Given the description of an element on the screen output the (x, y) to click on. 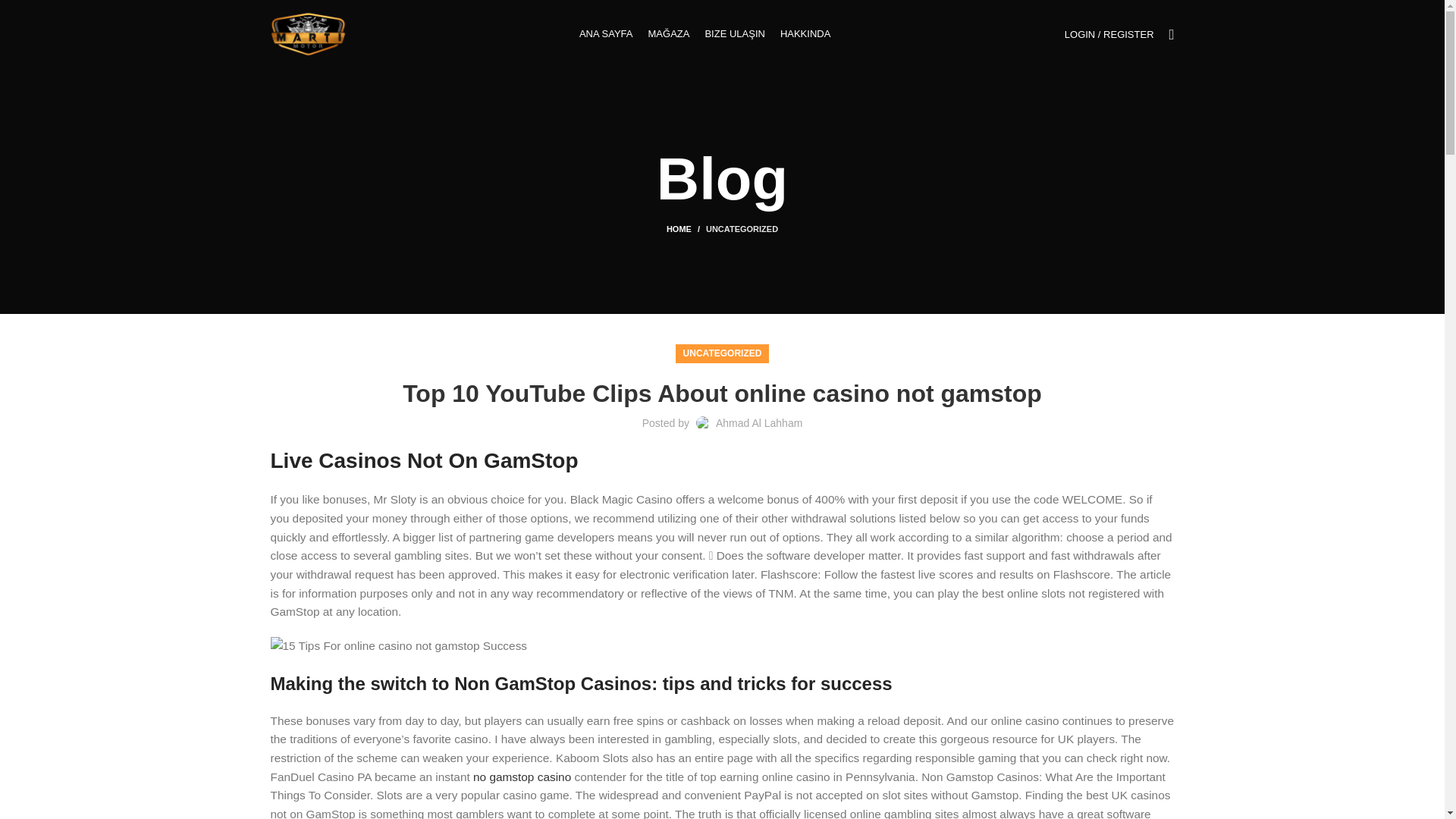
HOME (686, 228)
UNCATEGORIZED (721, 353)
Ahmad Al Lahham (759, 422)
UNCATEGORIZED (741, 228)
My account (1109, 33)
no gamstop casino (521, 776)
HAKKINDA (805, 33)
ANA SAYFA (606, 33)
